Given the description of an element on the screen output the (x, y) to click on. 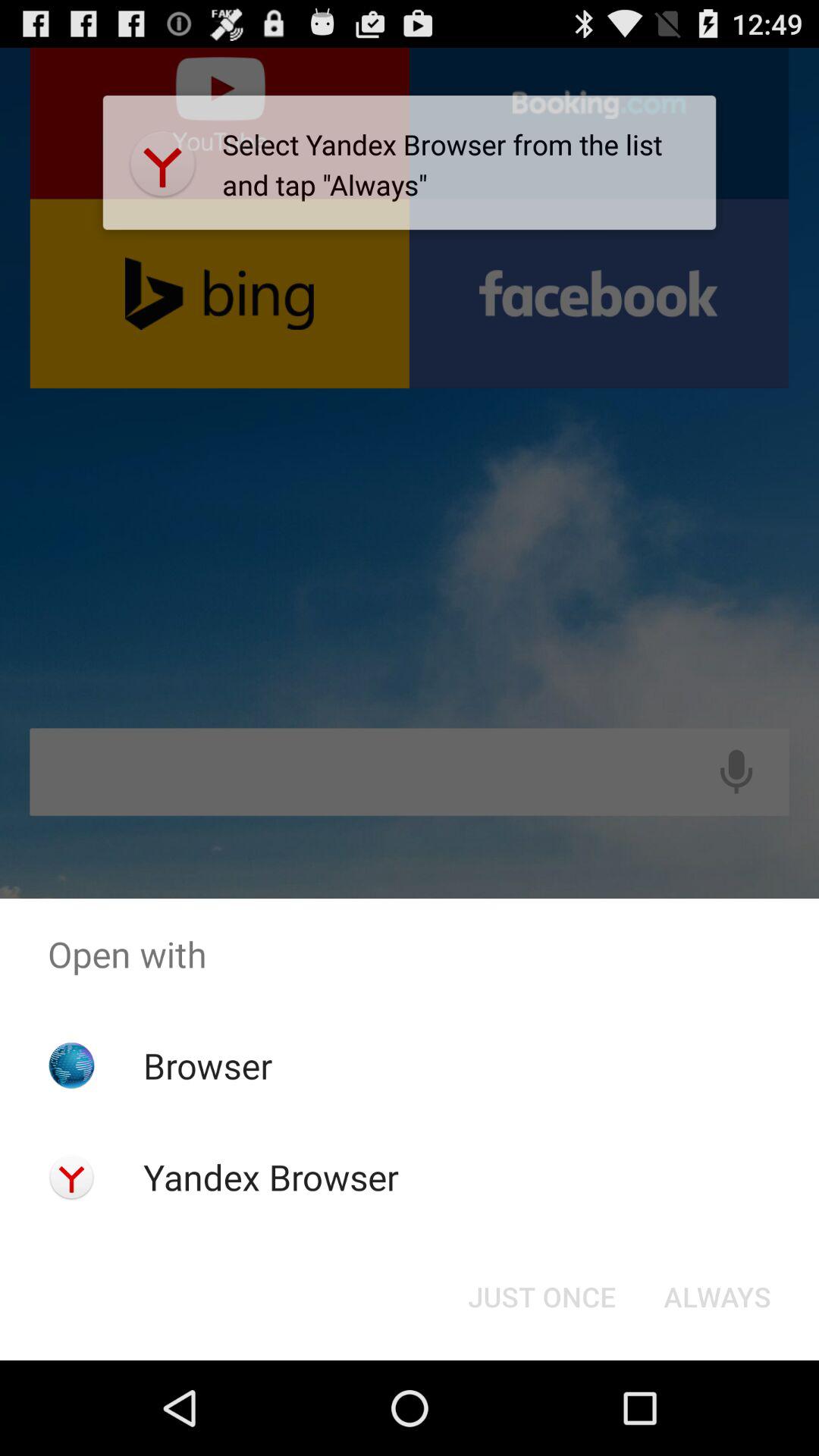
flip until yandex browser app (270, 1176)
